Given the description of an element on the screen output the (x, y) to click on. 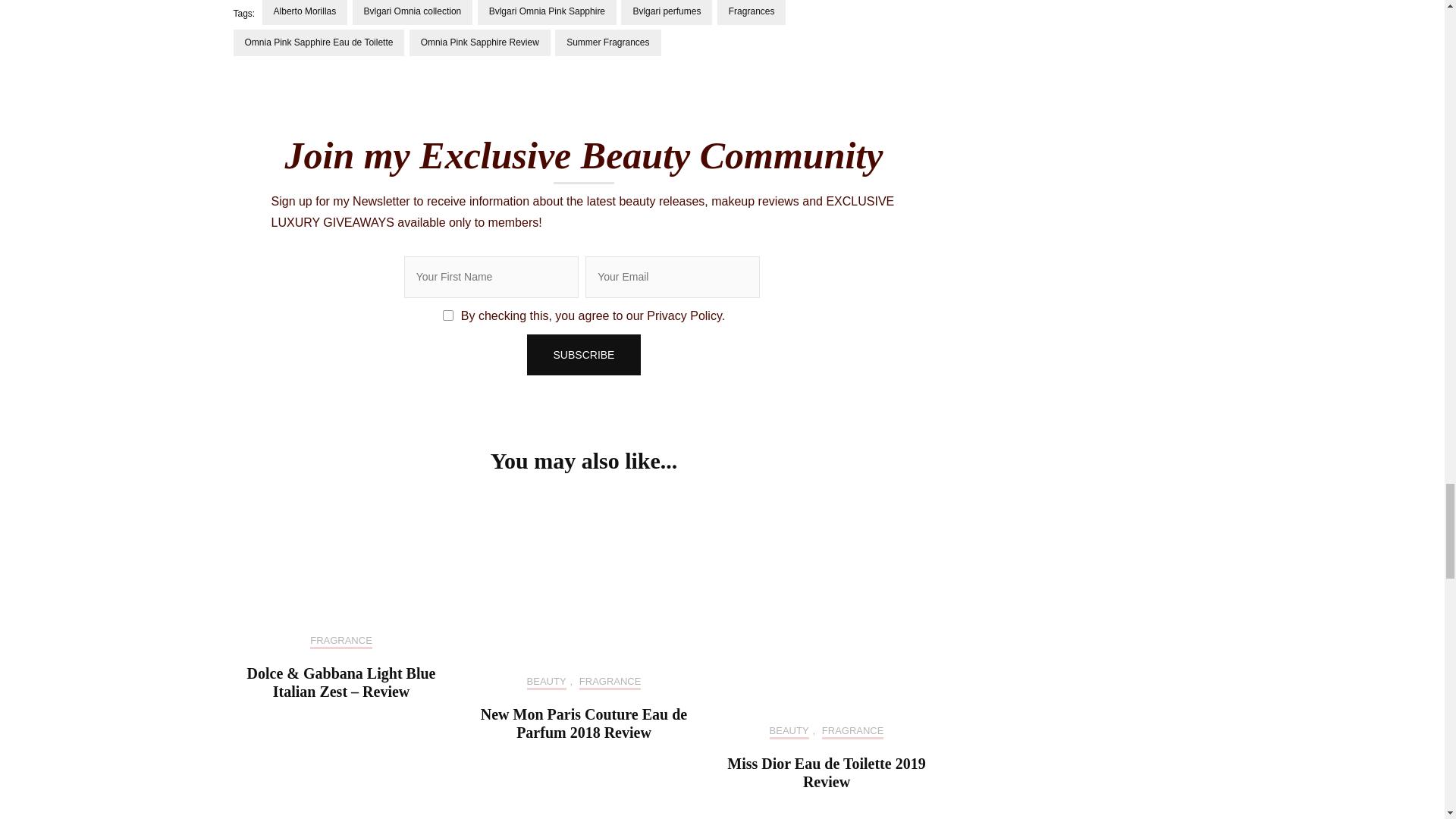
Subscribe (583, 354)
Omnia Pink Sapphire Eau de Toilette (318, 42)
Omnia Pink Sapphire Review (479, 42)
Bvlgari Omnia collection (412, 12)
Bvlgari perfumes (666, 12)
Bvlgari Omnia Pink Sapphire (546, 12)
Alberto Morillas (304, 12)
Subscribe (583, 354)
Summer Fragrances (607, 42)
Fragrances (751, 12)
